Given the description of an element on the screen output the (x, y) to click on. 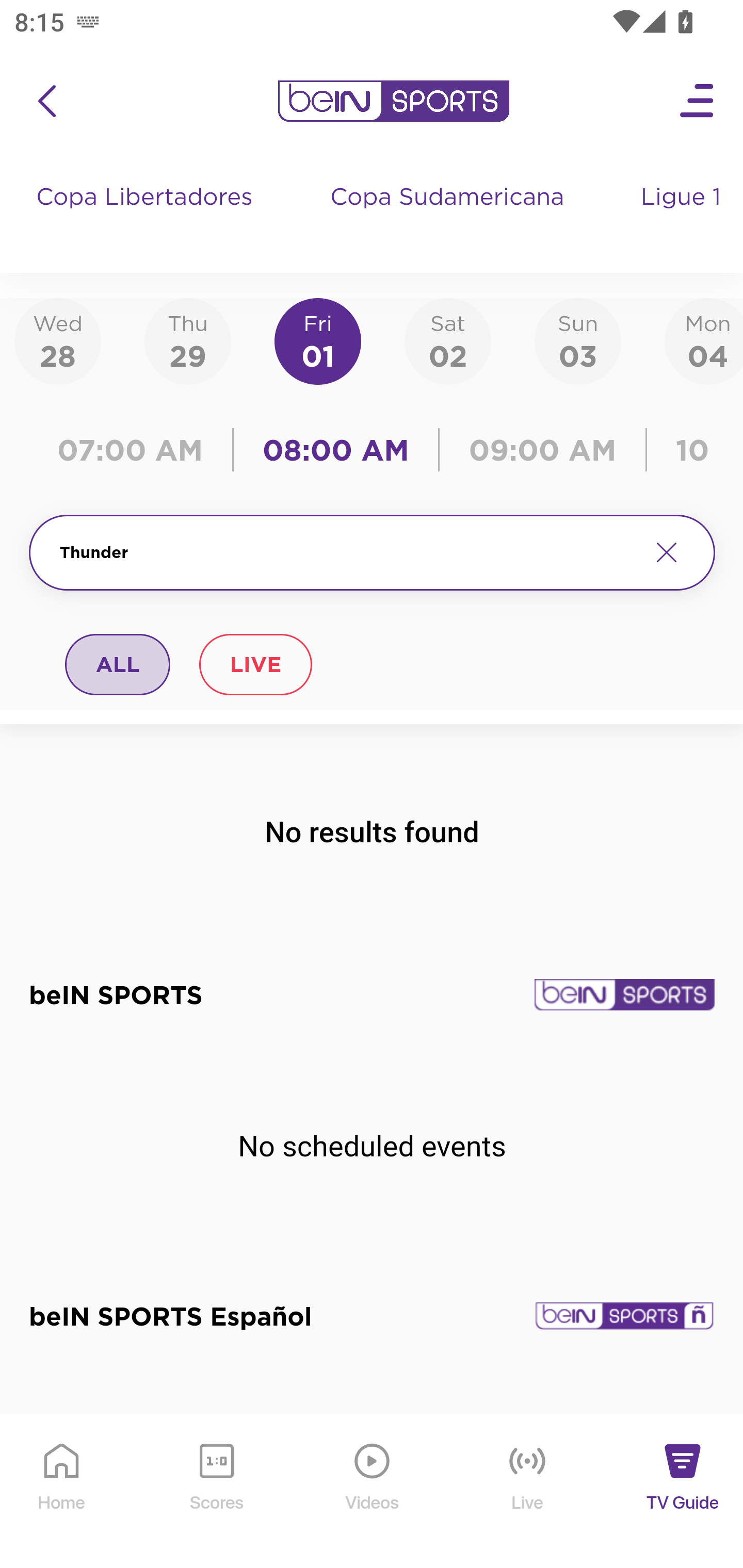
en-us?platform=mobile_android bein logo (392, 101)
icon back (46, 101)
Open Menu Icon (697, 101)
Copa Libertadores (146, 216)
Copa Sudamericana (448, 216)
Ligue 1 (682, 216)
Wed28 (58, 340)
Thu29 (187, 340)
Fri01 (318, 340)
Sat02 (447, 340)
Sun03 (578, 340)
Mon04 (703, 340)
07:00 AM (135, 449)
08:00 AM (336, 449)
09:00 AM (542, 449)
Thunder (346, 552)
ALL (118, 663)
LIVE (255, 663)
Home Home Icon Home (61, 1491)
Scores Scores Icon Scores (216, 1491)
Videos Videos Icon Videos (372, 1491)
TV Guide TV Guide Icon TV Guide (682, 1491)
